Given the description of an element on the screen output the (x, y) to click on. 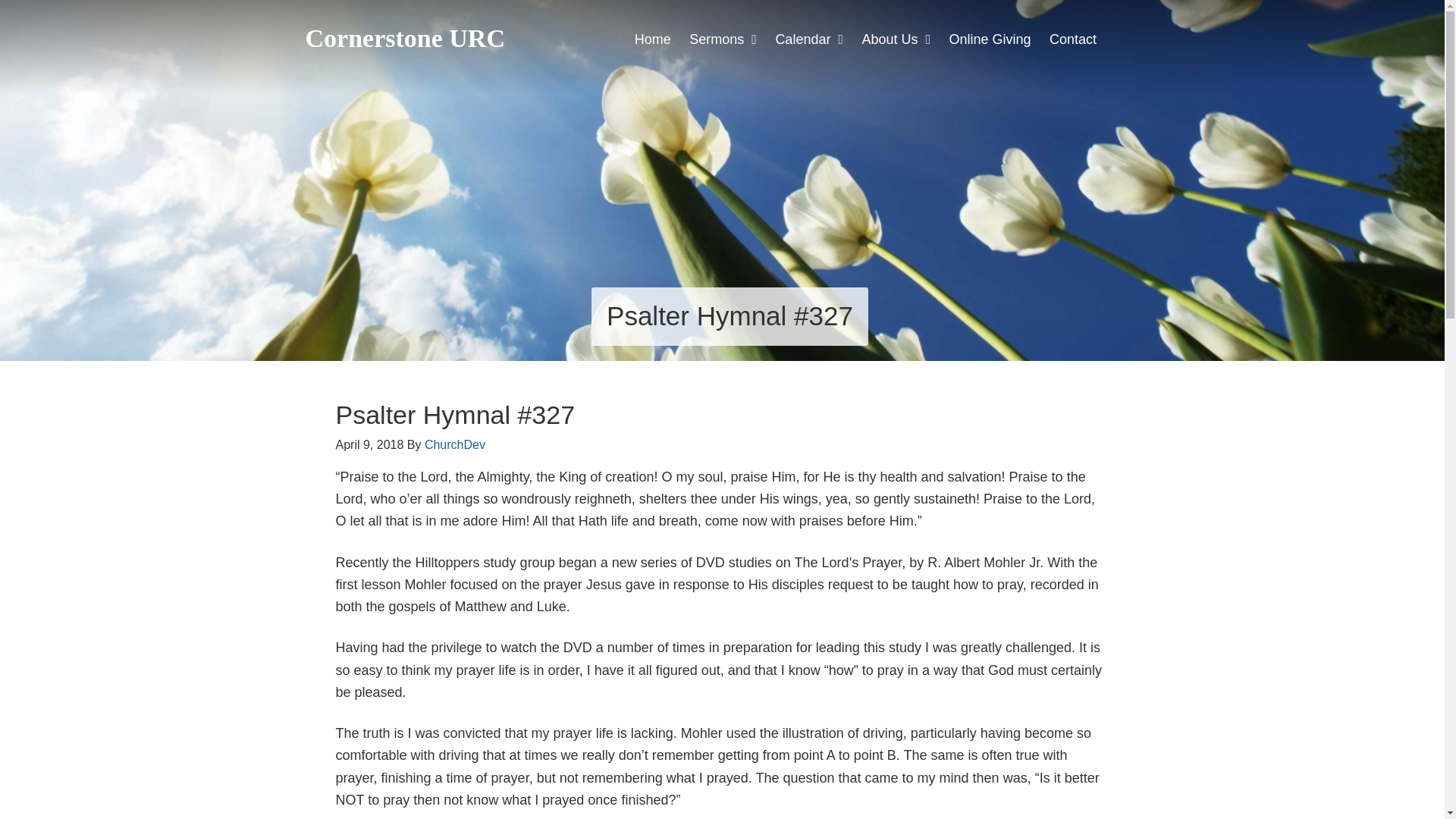
Sermons (722, 39)
Calendar (809, 39)
About Us (895, 39)
Contact (1072, 39)
ChurchDev (454, 444)
Online Giving (989, 39)
